Given the description of an element on the screen output the (x, y) to click on. 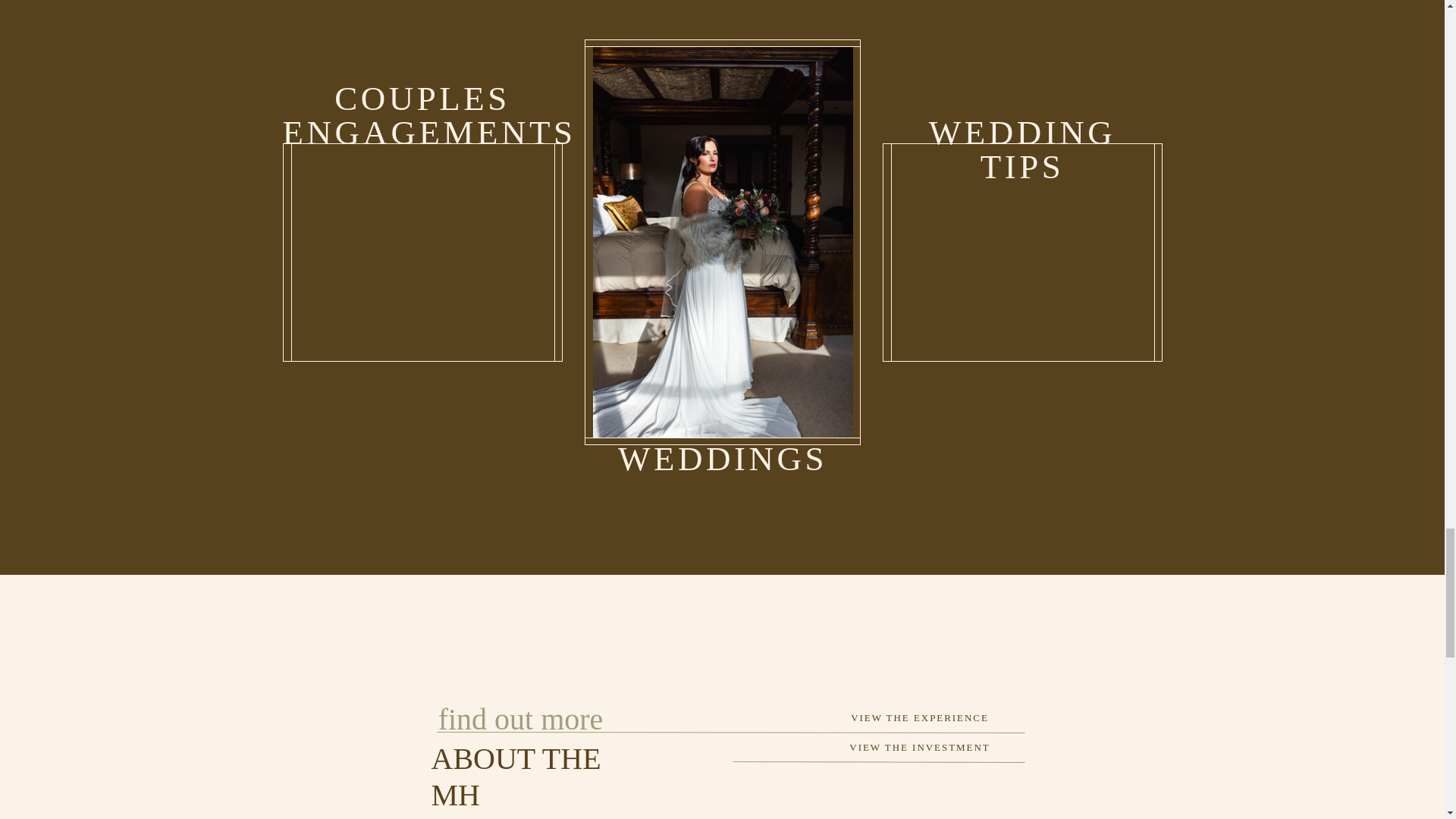
WEDDING TIPS (422, 115)
VIEW THE INVESTMENT (1021, 133)
VIEW THE EXPERIENCE (919, 747)
WEDDINGS (920, 717)
